Given the description of an element on the screen output the (x, y) to click on. 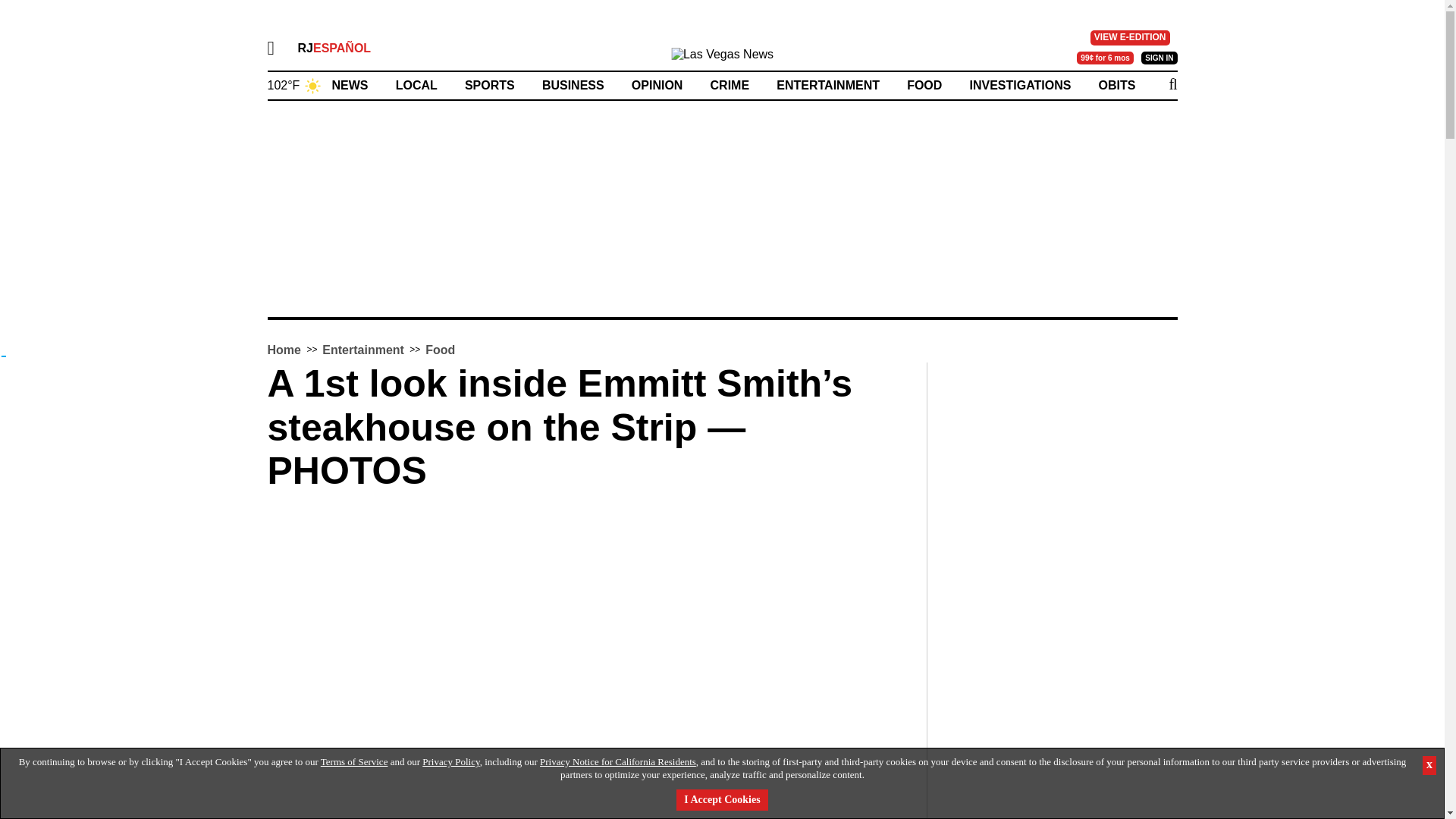
Weather Forecast (293, 83)
VIEW E-EDITION (1130, 37)
OBITS (1117, 84)
SIGN IN (1158, 58)
ENTERTAINMENT (827, 84)
LOCAL (417, 84)
NEWS (349, 84)
BUSINESS (572, 84)
CRIME (729, 84)
FOOD (924, 84)
